Given the description of an element on the screen output the (x, y) to click on. 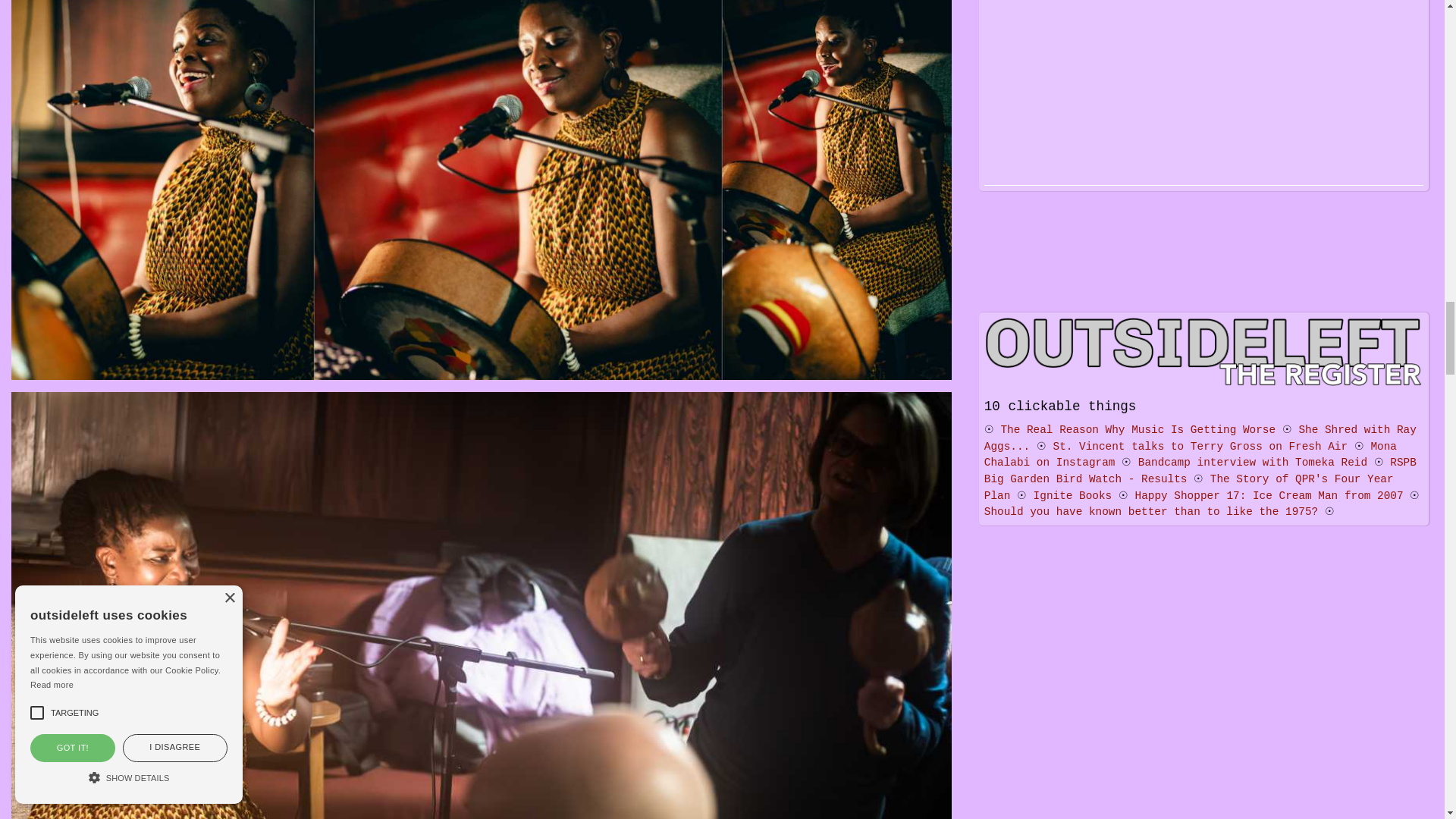
The Real Reason Why Music Is Getting Worse (1137, 429)
She Shred with Ray Aggs... (1200, 438)
St. Vincent talks to Terry Gross on Fresh Air (1200, 446)
Mona Chalabi on Instagram (1190, 454)
